Given the description of an element on the screen output the (x, y) to click on. 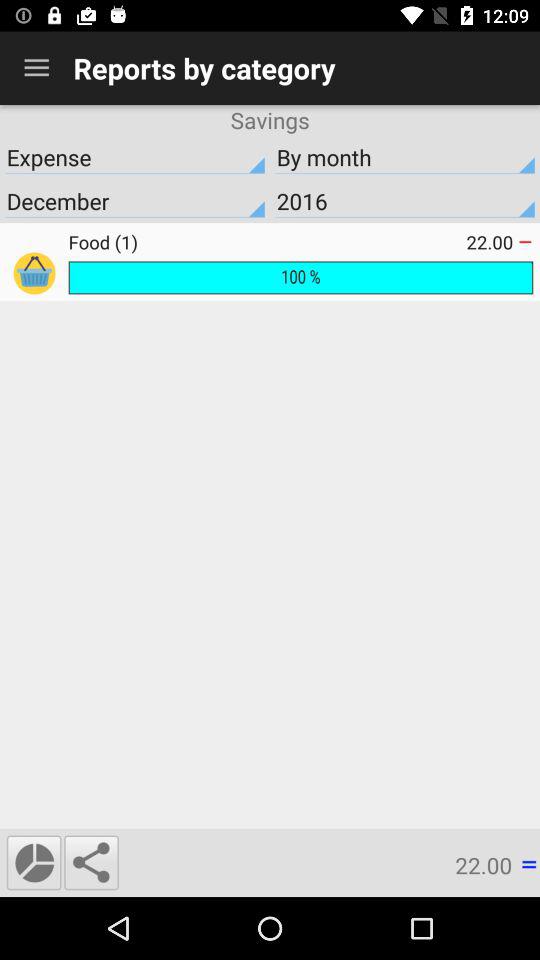
click icon to the left of the 22.00 icon (91, 862)
